Given the description of an element on the screen output the (x, y) to click on. 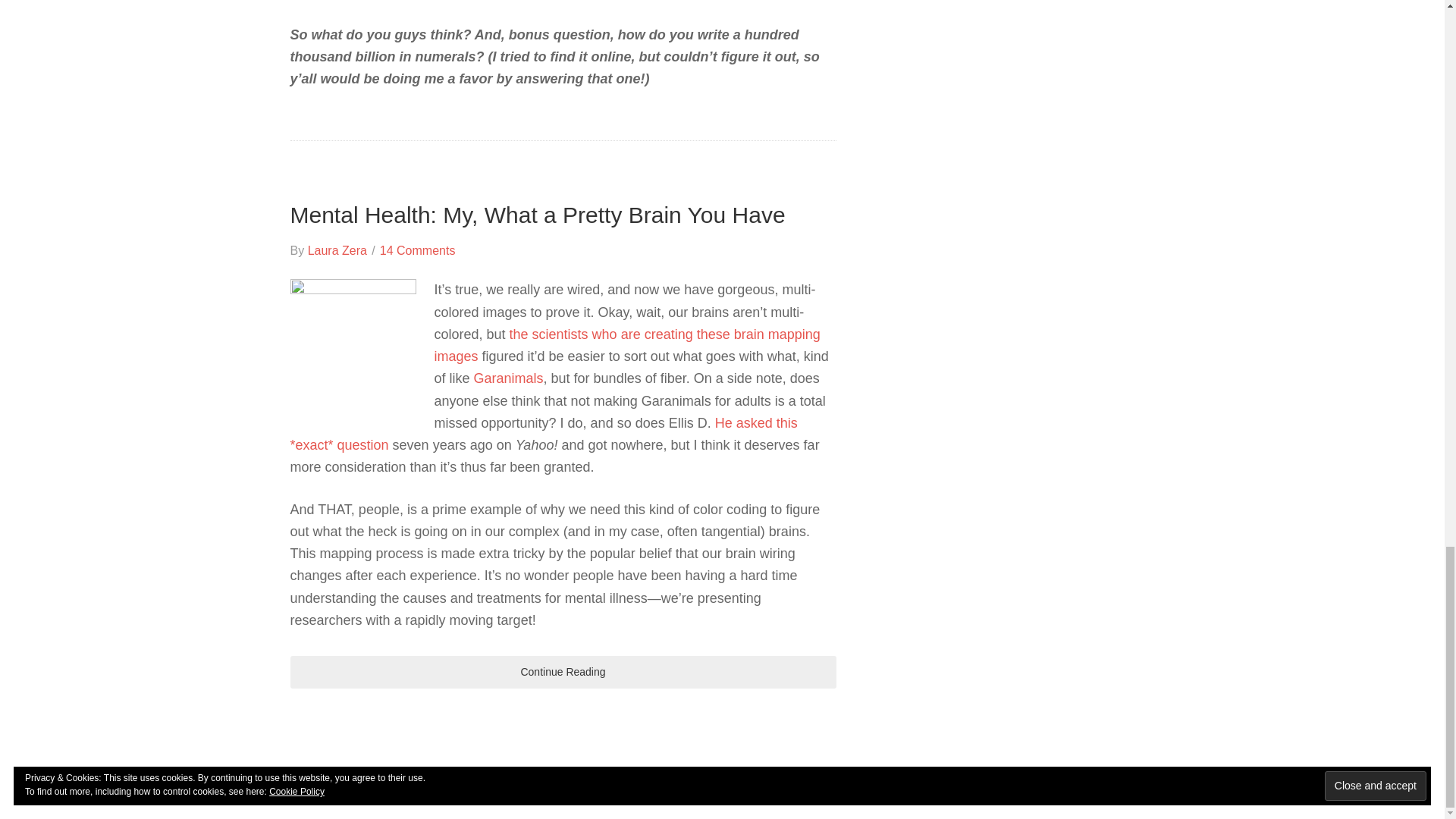
Log in (834, 778)
the scientists who are creating these brain mapping images (626, 344)
Image courtesy of Microsoft (351, 340)
Why no Garanimals for adults? (542, 433)
Garanimals (508, 378)
Mental Health: My, What a Pretty Brain You Have (536, 214)
Garanimals (508, 378)
HCP Collaborators (626, 344)
Continue Reading (562, 672)
Laura Zera (336, 250)
14 Comments (417, 250)
